Given the description of an element on the screen output the (x, y) to click on. 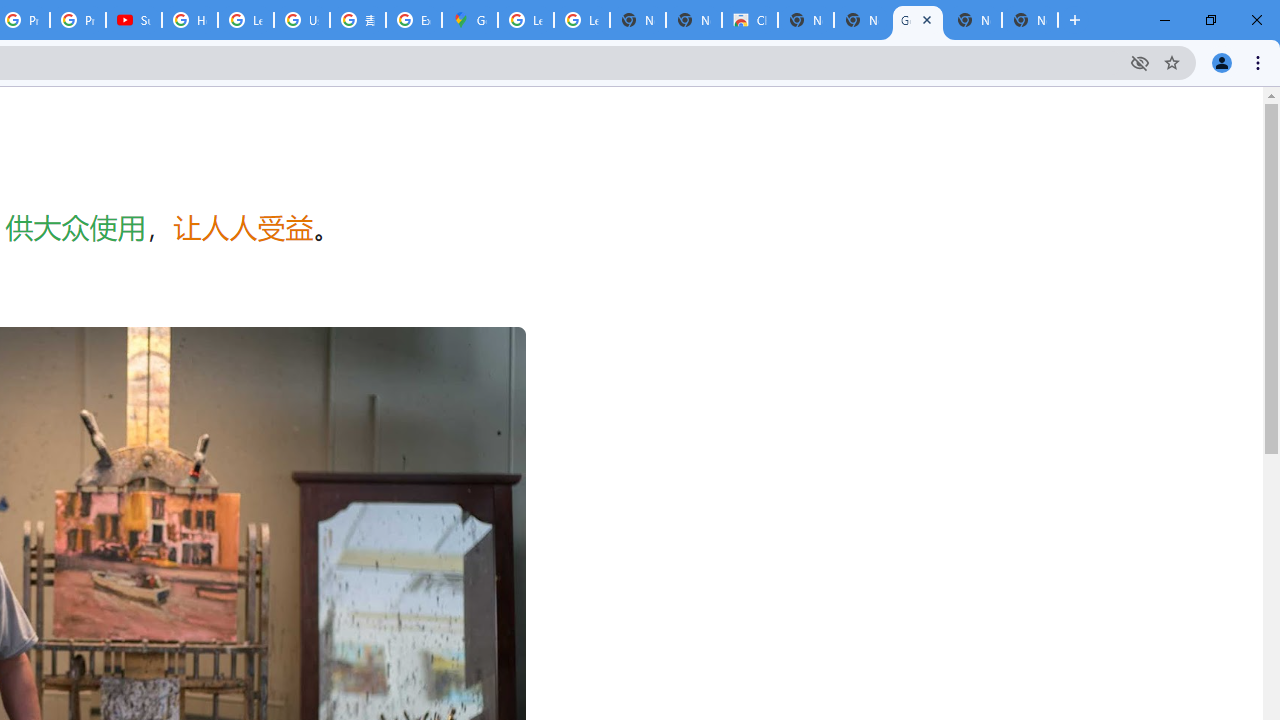
Google Maps (469, 20)
Subscriptions - YouTube (134, 20)
Explore new street-level details - Google Maps Help (413, 20)
New Tab (1030, 20)
Chrome Web Store (749, 20)
